Given the description of an element on the screen output the (x, y) to click on. 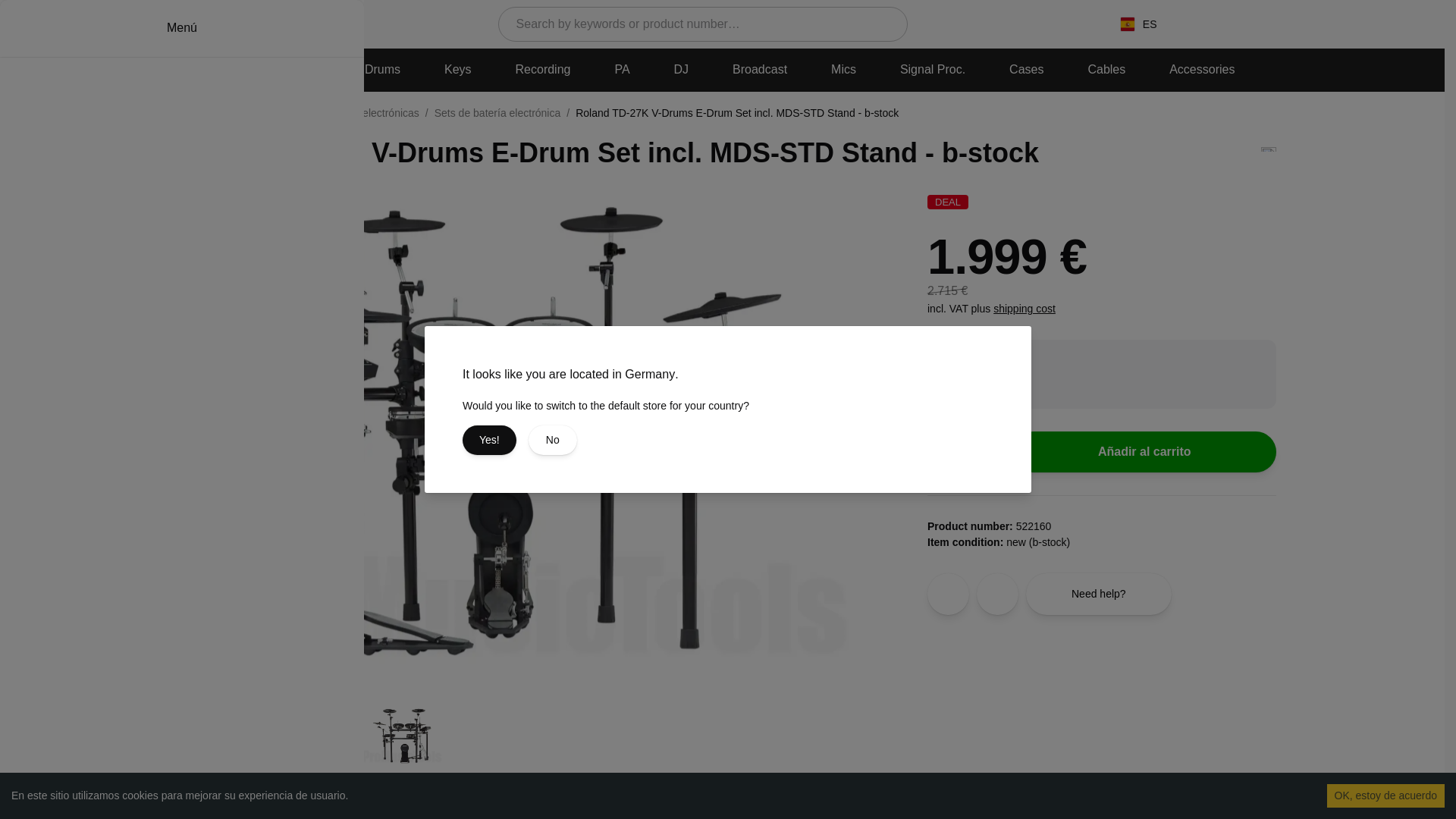
Recording (542, 69)
0 (1283, 24)
Cables (1106, 69)
Keys (457, 69)
DJ (681, 69)
Signal Proc. (932, 69)
Drums (382, 69)
Broadcast (759, 69)
Mics (843, 69)
Need help? (1099, 594)
